Given the description of an element on the screen output the (x, y) to click on. 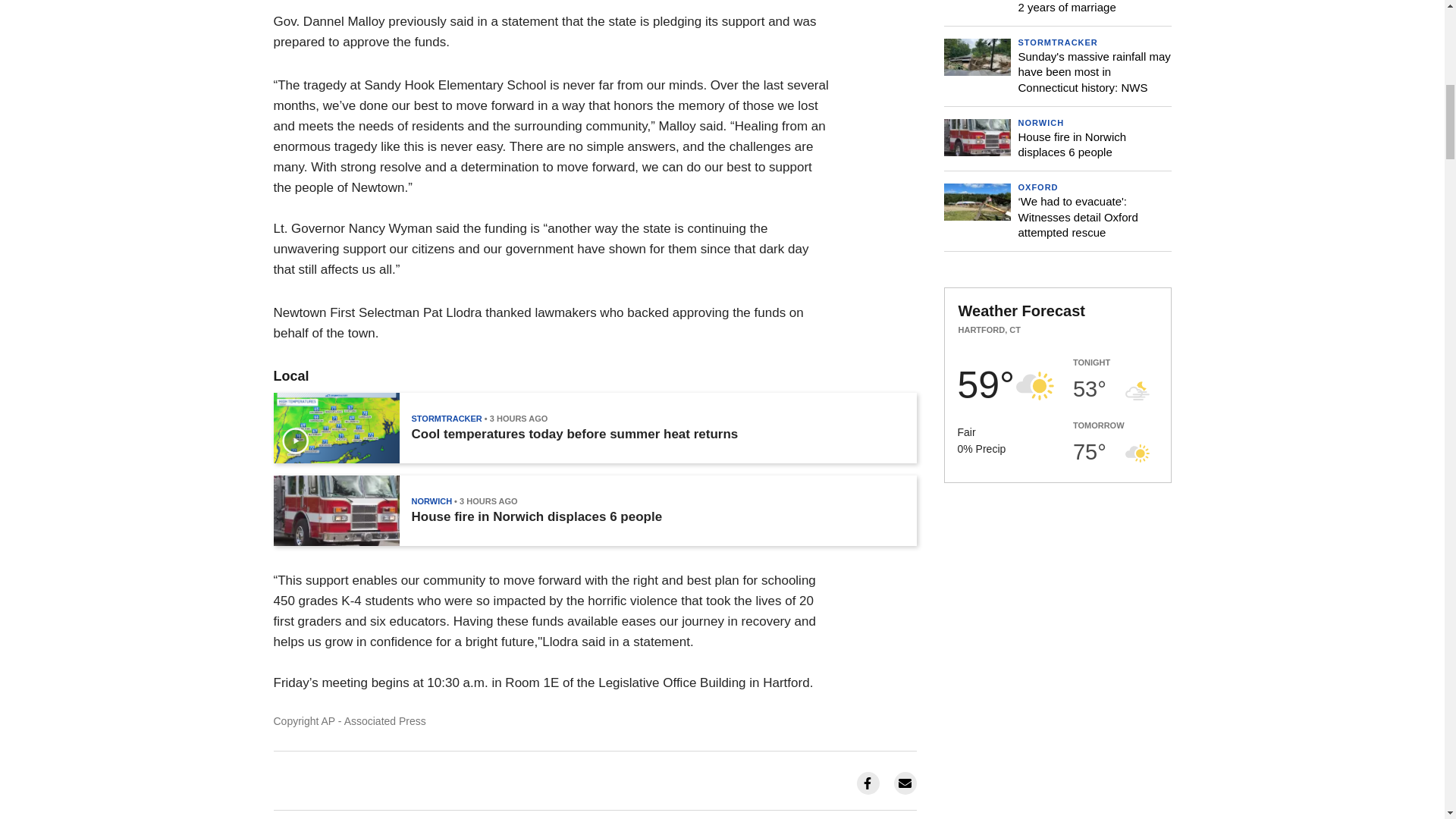
Cool temperatures today before summer heat returns (574, 434)
House fire in Norwich displaces 6 people (536, 516)
STORMTRACKER (445, 418)
NORWICH (430, 501)
